Given the description of an element on the screen output the (x, y) to click on. 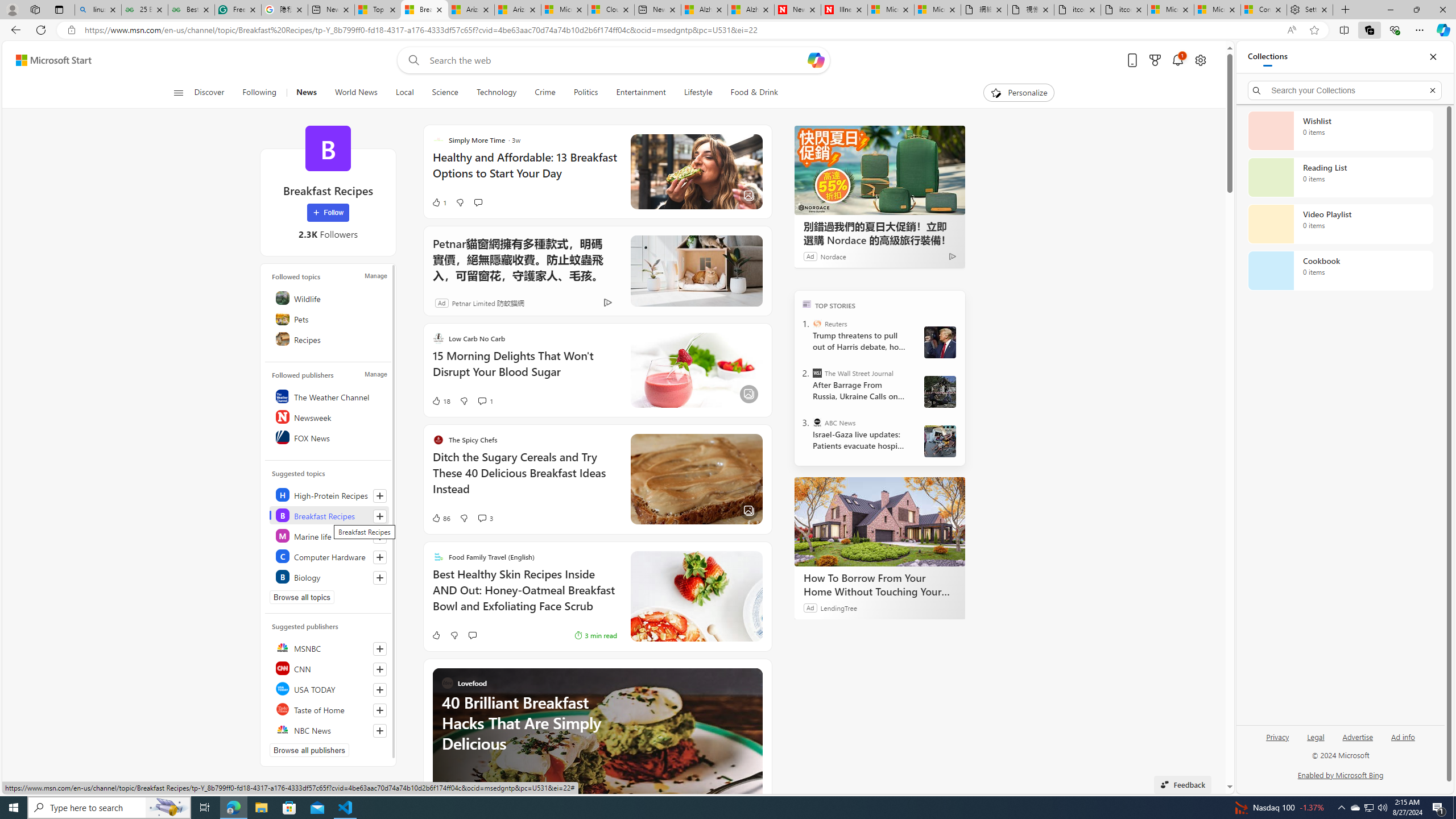
Food & Drink (748, 92)
Lifestyle (697, 92)
ABC News (816, 422)
Cookbook collection, 0 items (1339, 270)
Recipes (328, 339)
